Given the description of an element on the screen output the (x, y) to click on. 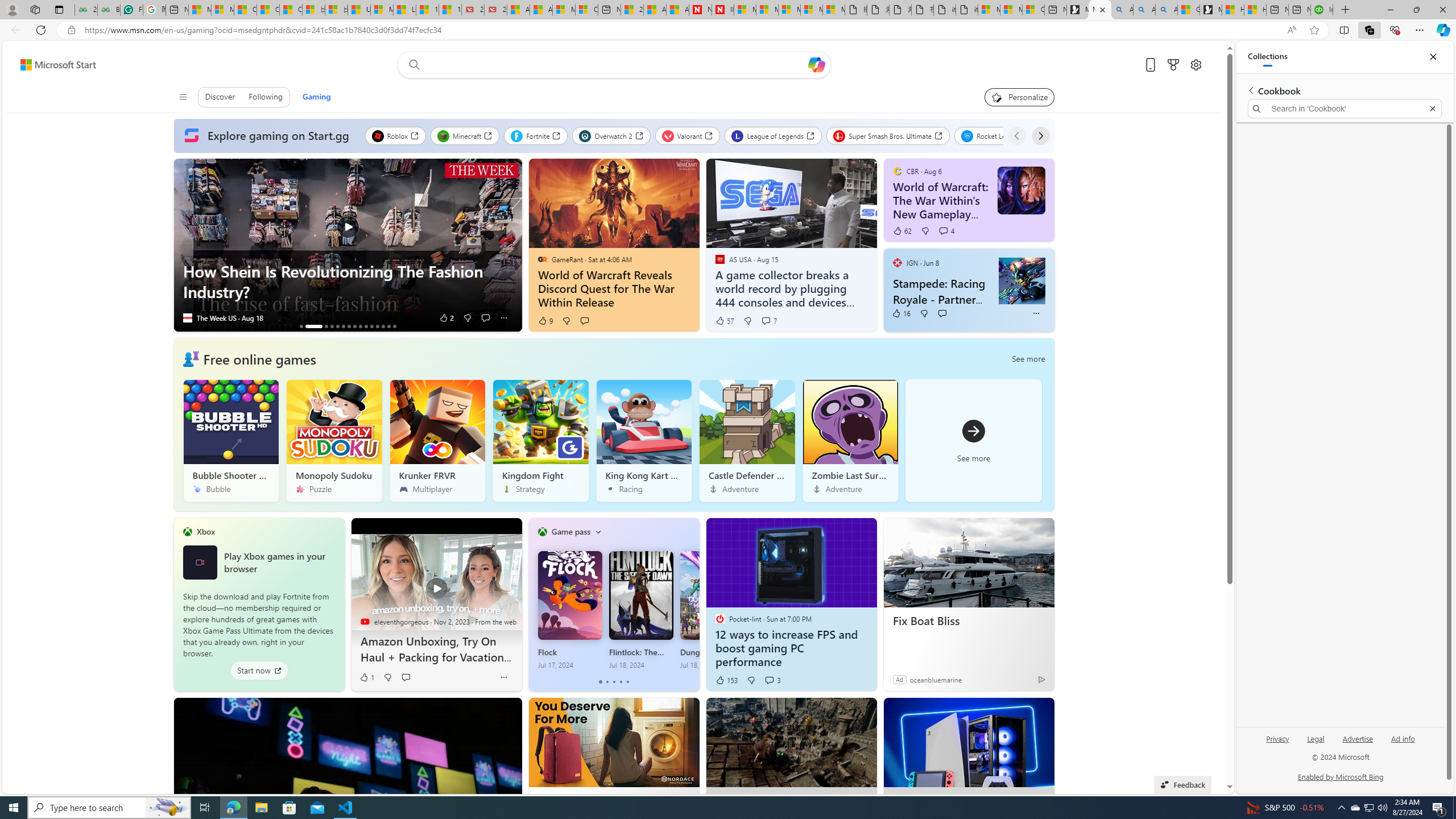
Flintlock: The Siege of Dawn Jul 18, 2024 (640, 610)
Kingdom Fight (540, 440)
Free online games (258, 358)
tab-4 (627, 682)
Bubble Shooter HD (230, 440)
tab-1 (606, 682)
